Given the description of an element on the screen output the (x, y) to click on. 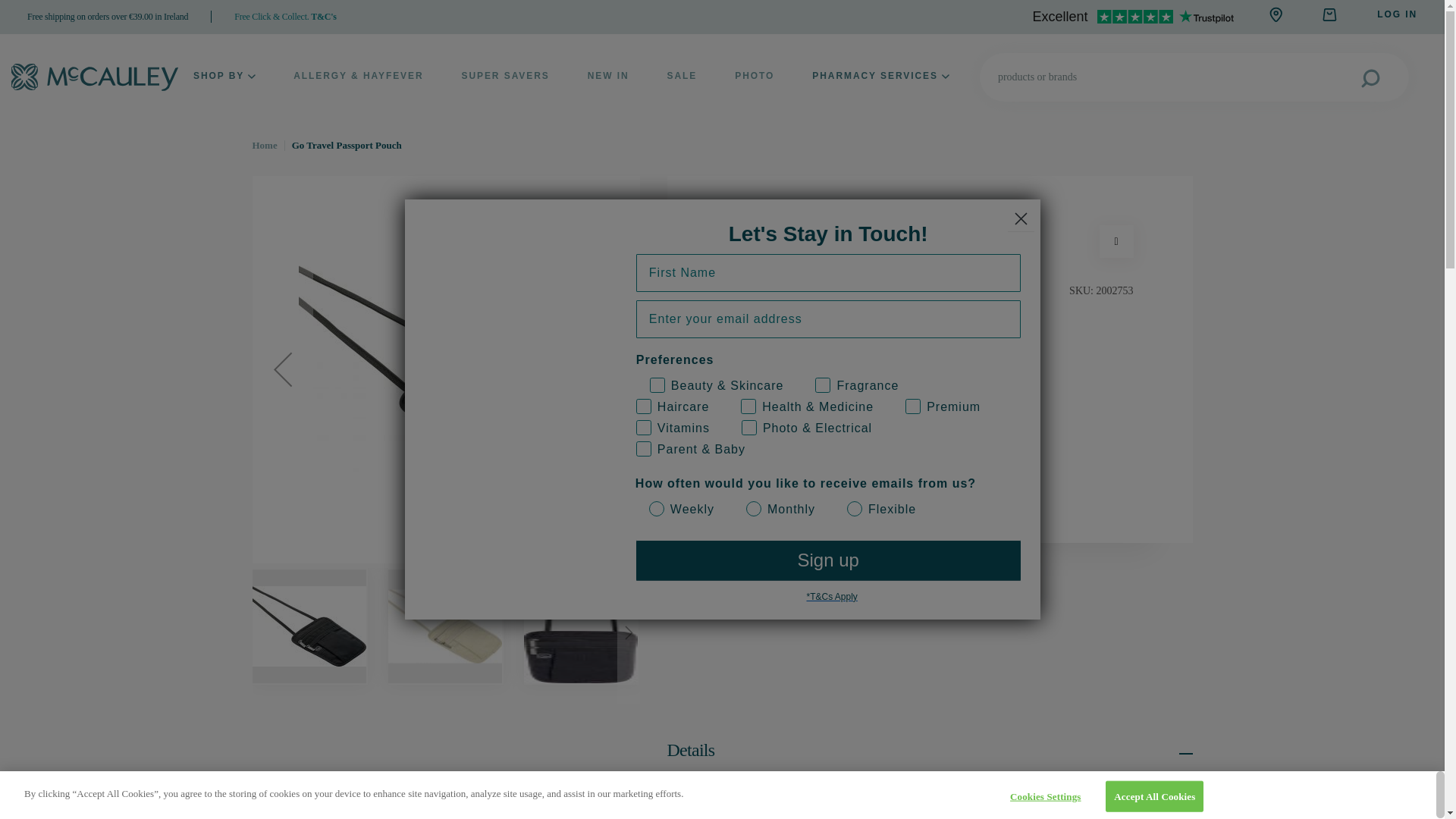
storelocator (1275, 14)
Customer reviews powered by Trustpilot (1132, 18)
on (641, 390)
Qty (782, 372)
Add To Bag (783, 467)
Go to Home Page (263, 144)
Availability (930, 420)
LOG IN (1396, 14)
McCauley (94, 76)
SHOP BY (224, 76)
on (806, 390)
Search (1384, 77)
on (921, 390)
1 (782, 372)
My Cart (1329, 15)
